Given the description of an element on the screen output the (x, y) to click on. 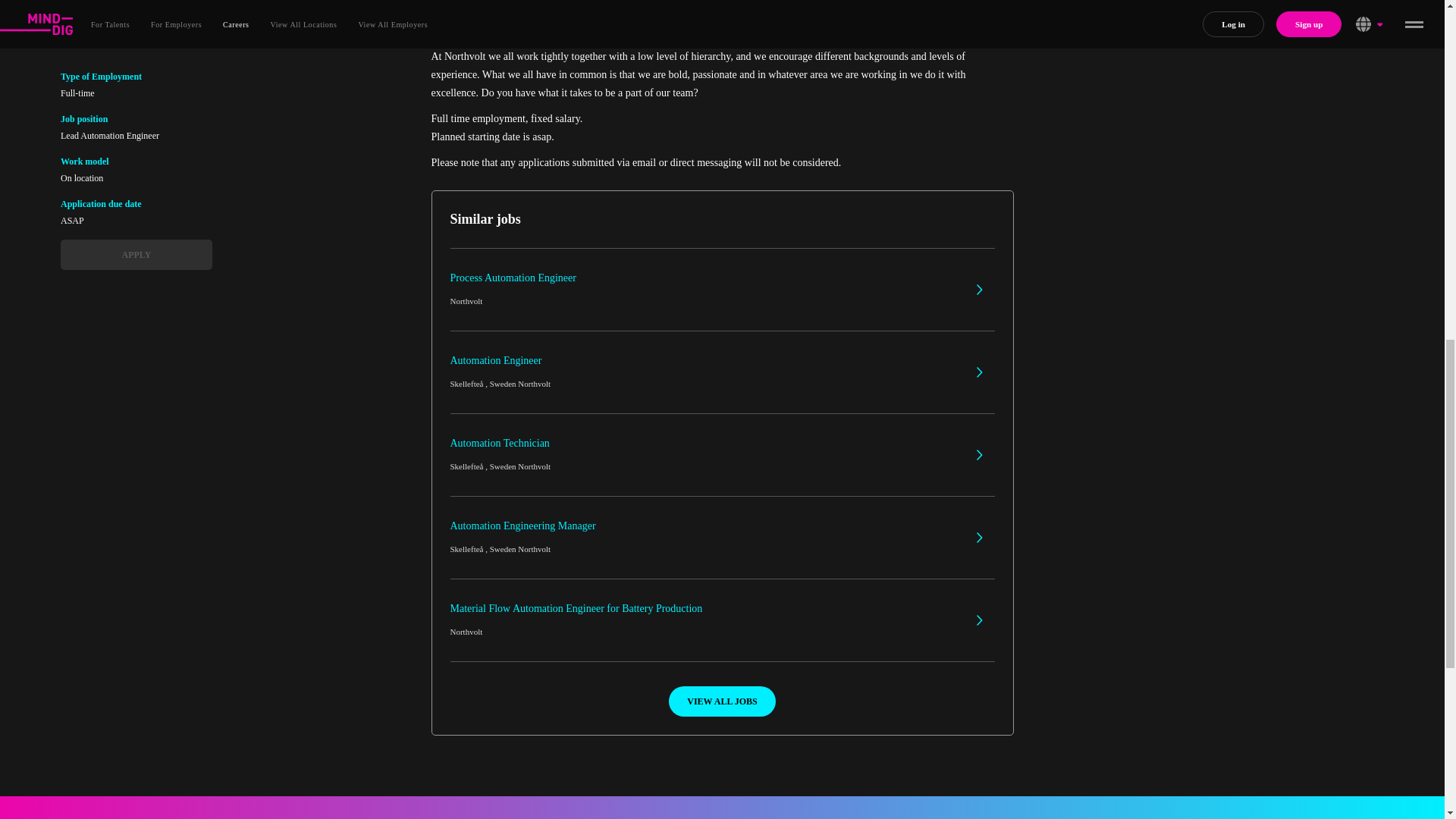
VIEW ALL JOBS (721, 289)
